Given the description of an element on the screen output the (x, y) to click on. 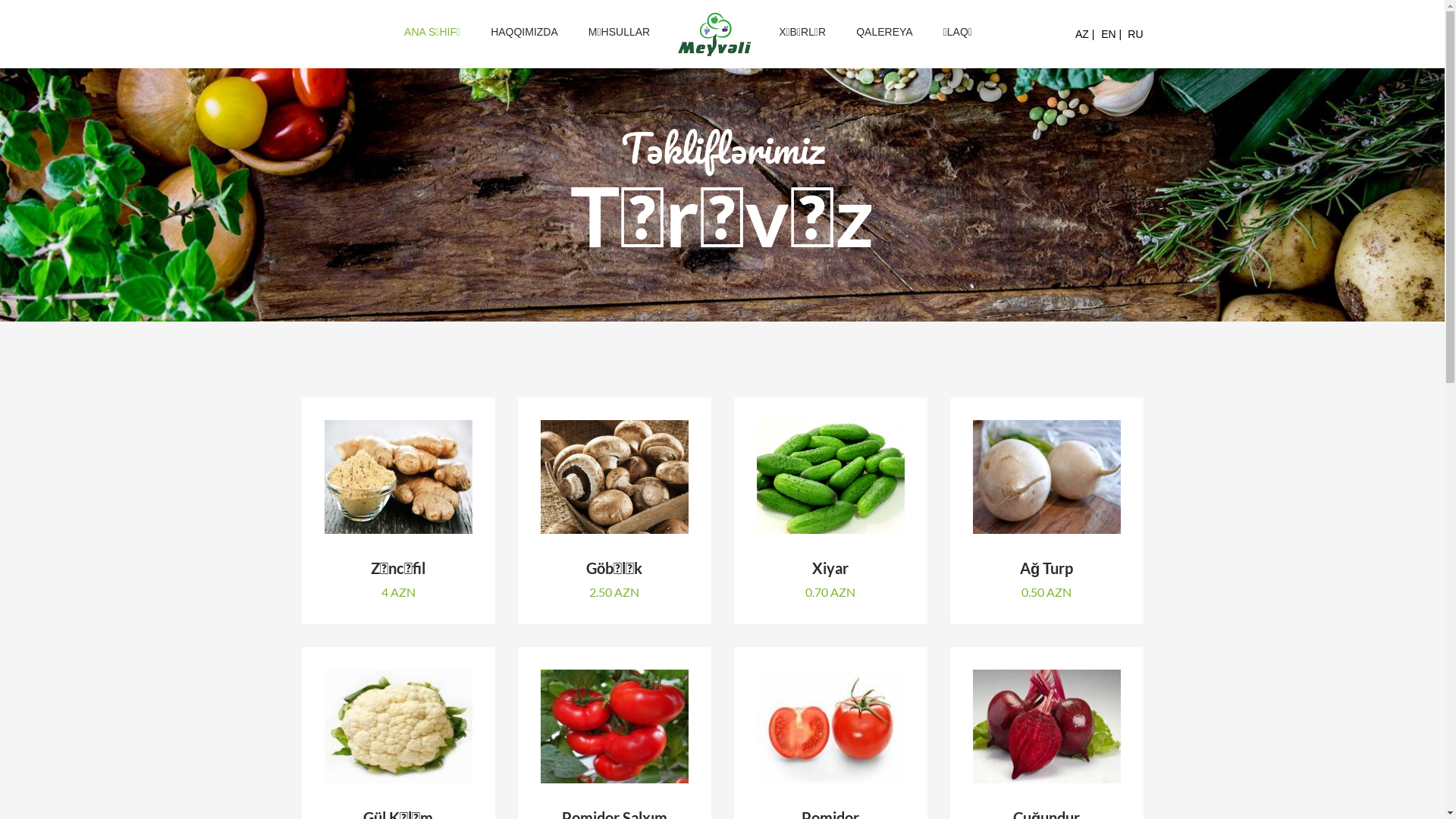
QALEREYA Element type: text (883, 32)
RU Element type: text (1134, 34)
AZ | Element type: text (1084, 34)
HAQQIMIZDA Element type: text (524, 32)
EN | Element type: text (1111, 33)
